Given the description of an element on the screen output the (x, y) to click on. 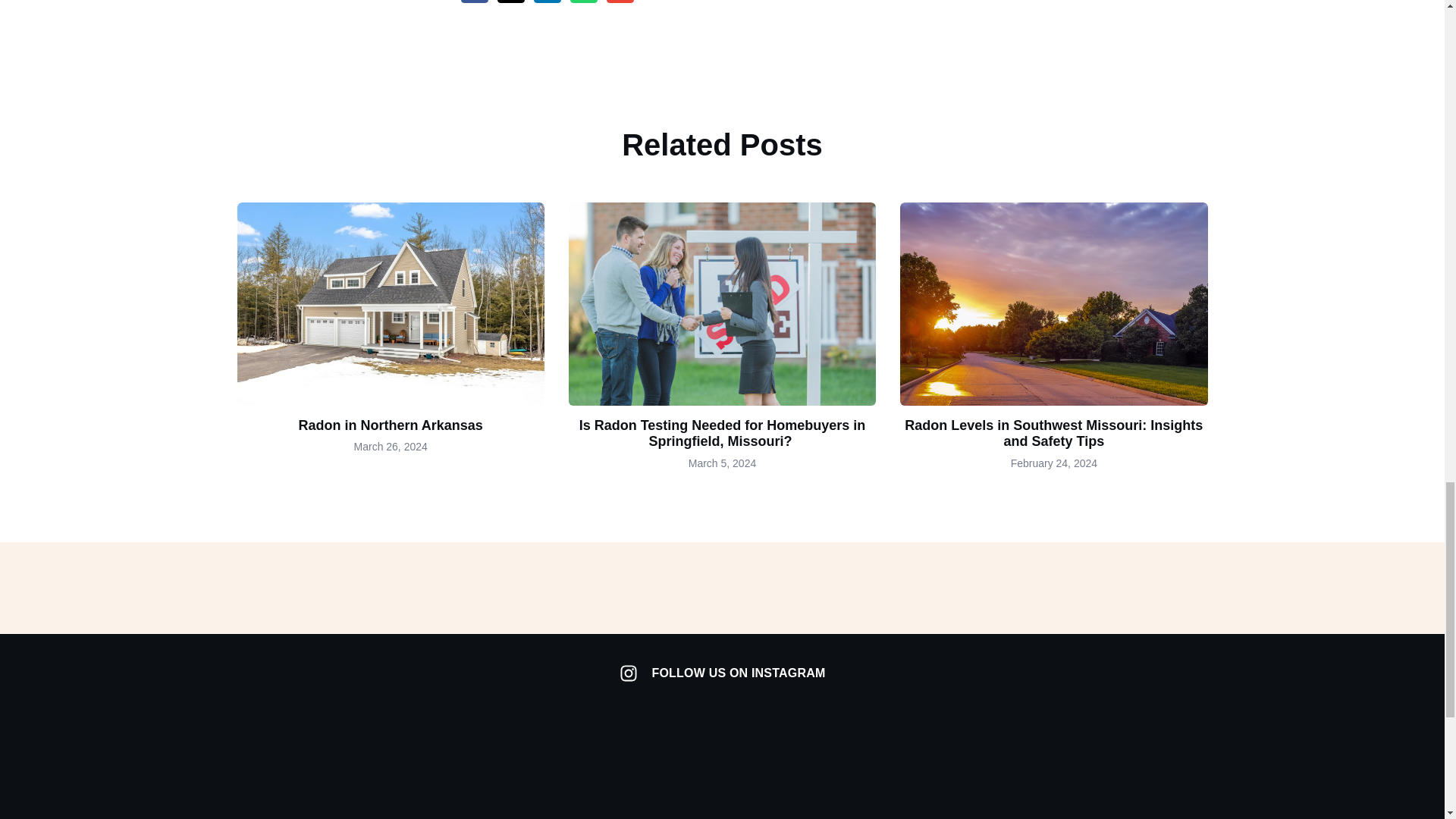
Radon Levels in Southwest Missouri: Insights and Safety Tips (1053, 433)
FOLLOW US ON INSTAGRAM (721, 673)
Radon in Northern Arkansas (389, 425)
